Given the description of an element on the screen output the (x, y) to click on. 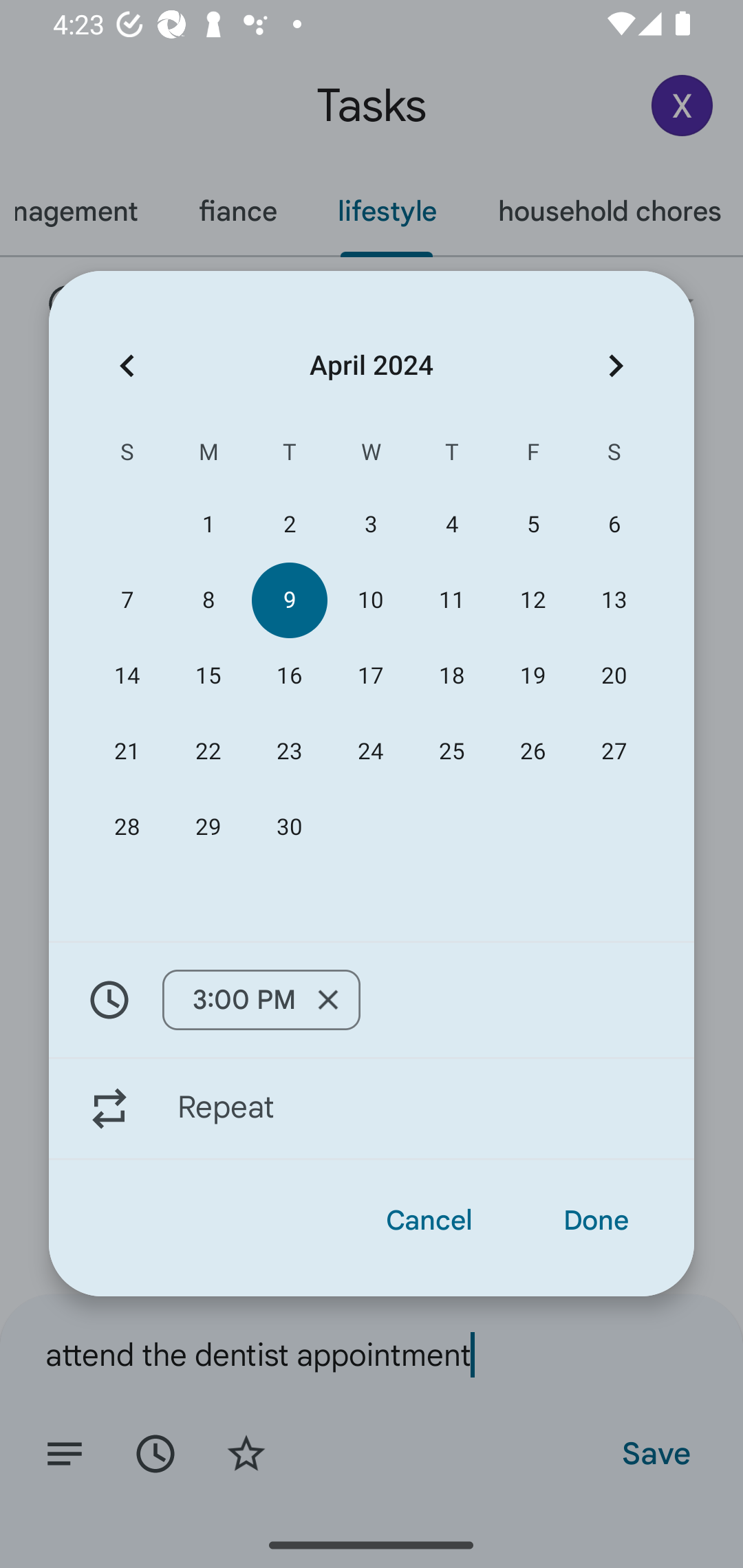
Previous month (126, 364)
Next month (615, 364)
1 01 April 2024 (207, 524)
2 02 April 2024 (288, 524)
3 03 April 2024 (370, 524)
4 04 April 2024 (451, 524)
5 05 April 2024 (532, 524)
6 06 April 2024 (613, 524)
7 07 April 2024 (126, 600)
8 08 April 2024 (207, 600)
9 09 April 2024 (288, 600)
10 10 April 2024 (370, 600)
11 11 April 2024 (451, 600)
12 12 April 2024 (532, 600)
13 13 April 2024 (613, 600)
14 14 April 2024 (126, 675)
15 15 April 2024 (207, 675)
16 16 April 2024 (288, 675)
17 17 April 2024 (370, 675)
18 18 April 2024 (451, 675)
19 19 April 2024 (532, 675)
20 20 April 2024 (613, 675)
21 21 April 2024 (126, 751)
22 22 April 2024 (207, 751)
23 23 April 2024 (288, 751)
24 24 April 2024 (370, 751)
25 25 April 2024 (451, 751)
26 26 April 2024 (532, 751)
27 27 April 2024 (613, 751)
28 28 April 2024 (126, 827)
29 29 April 2024 (207, 827)
30 30 April 2024 (288, 827)
3:00 PM Remove 3:00 PM (371, 999)
3:00 PM Remove 3:00 PM (261, 999)
Repeat (371, 1108)
Cancel (429, 1220)
Done (595, 1220)
